Given the description of an element on the screen output the (x, y) to click on. 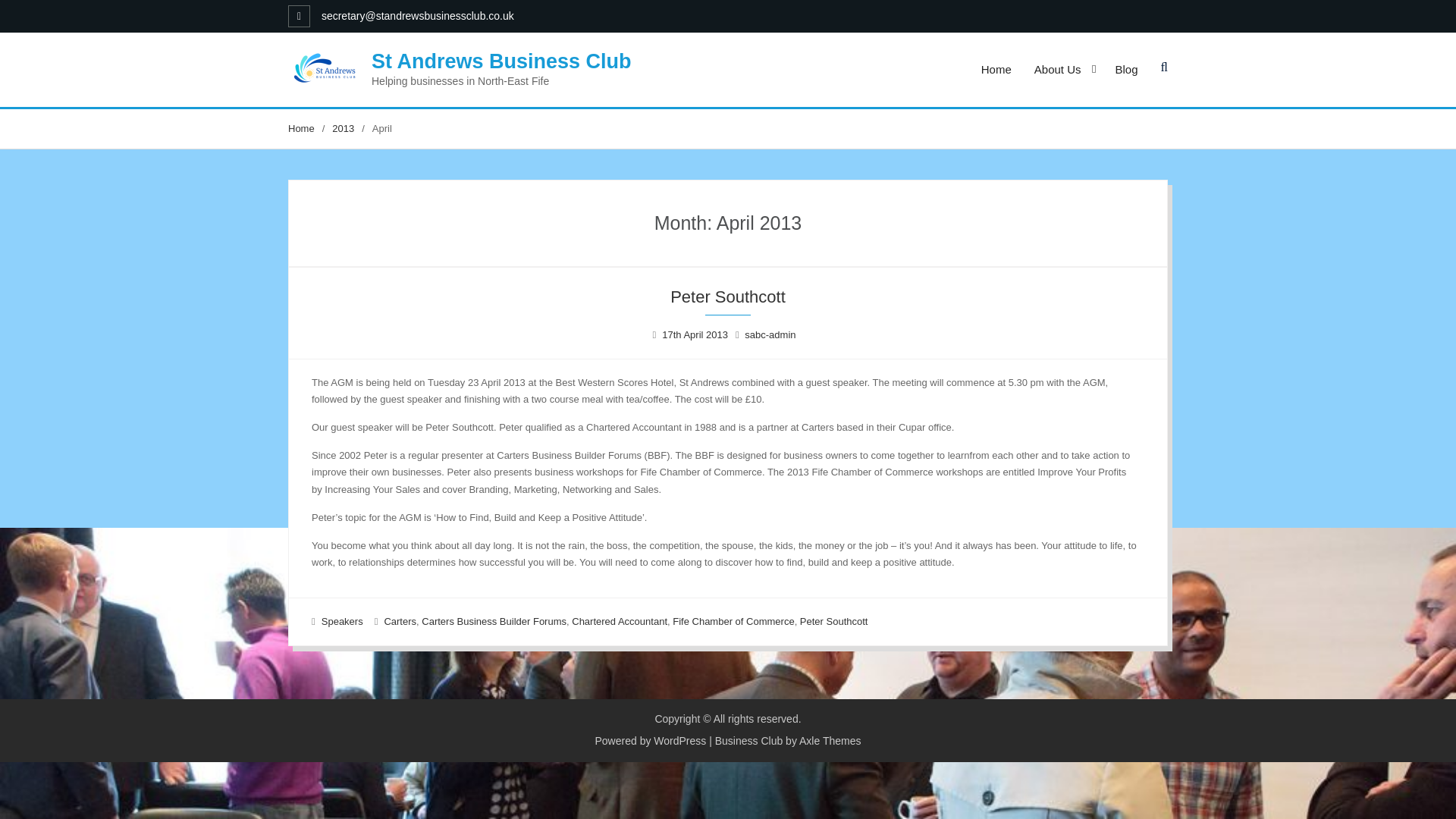
2013 (342, 128)
Carters Business Builder Forums (494, 621)
Axle Themes (829, 740)
Chartered Accountant (619, 621)
Peter Southcott (833, 621)
sabc-admin (769, 334)
St Andrews Business Club (501, 60)
About Us (1063, 69)
Peter Southcott (727, 296)
Carters (400, 621)
